Given the description of an element on the screen output the (x, y) to click on. 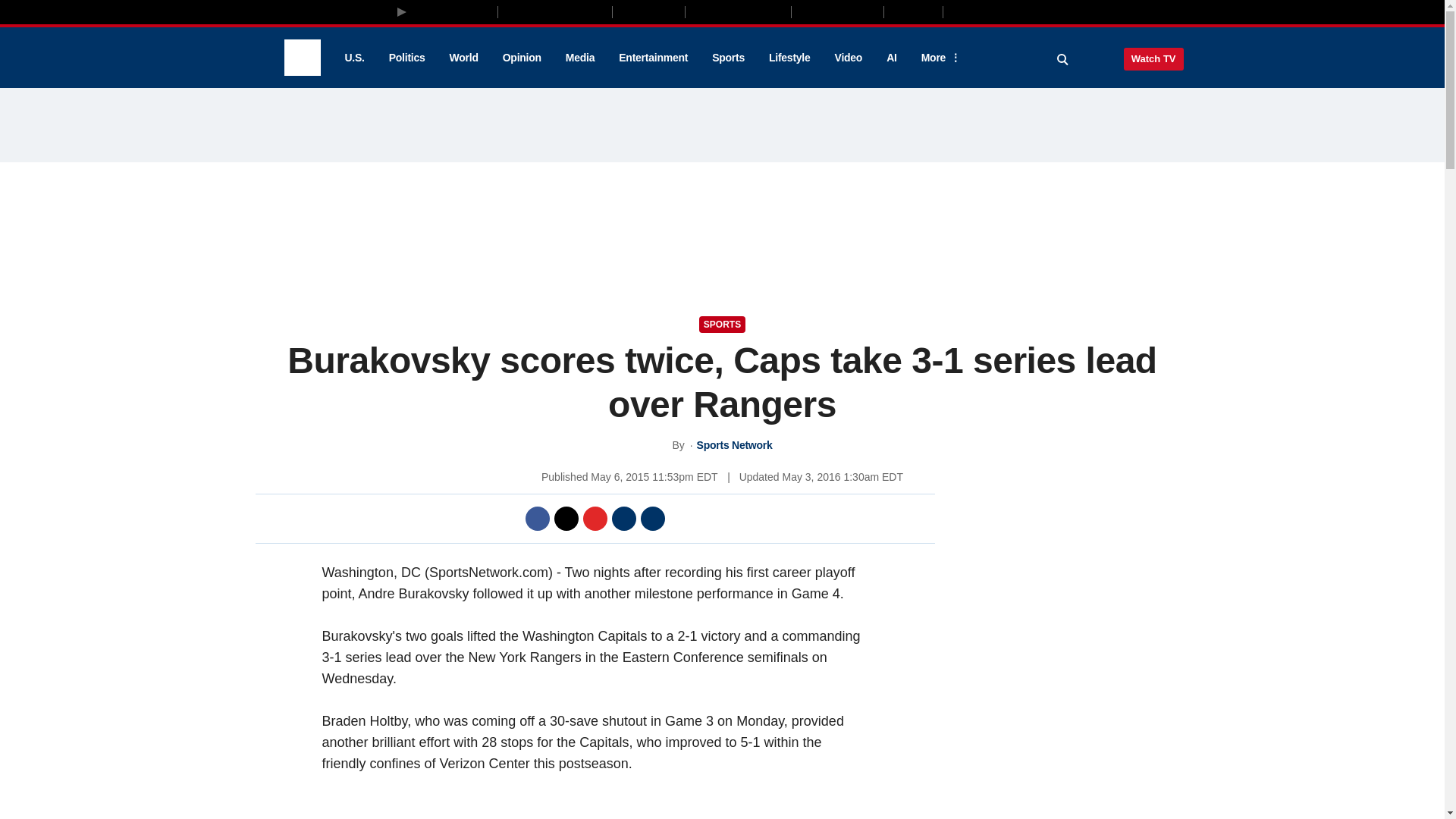
Media (580, 57)
Outkick (912, 11)
Entertainment (653, 57)
World (464, 57)
Sports (728, 57)
U.S. (353, 57)
Video (848, 57)
Fox Business (554, 11)
More (938, 57)
AI (891, 57)
Books (1007, 11)
Lifestyle (789, 57)
Politics (407, 57)
Watch TV (1153, 58)
Opinion (521, 57)
